Given the description of an element on the screen output the (x, y) to click on. 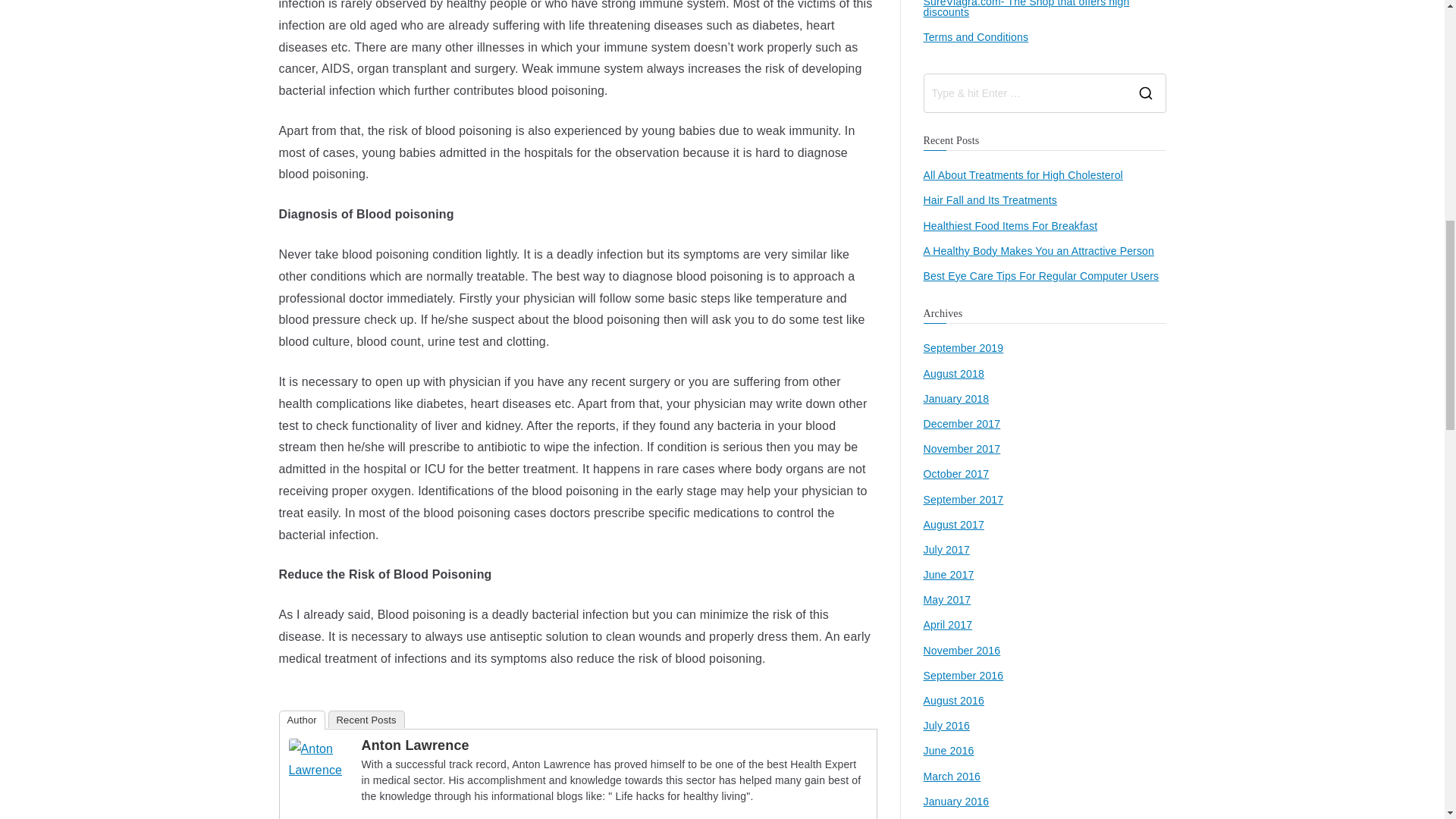
Search for: (1024, 93)
Recent Posts (366, 719)
Anton Lawrence (414, 744)
Author (301, 719)
Anton Lawrence (318, 758)
